Given the description of an element on the screen output the (x, y) to click on. 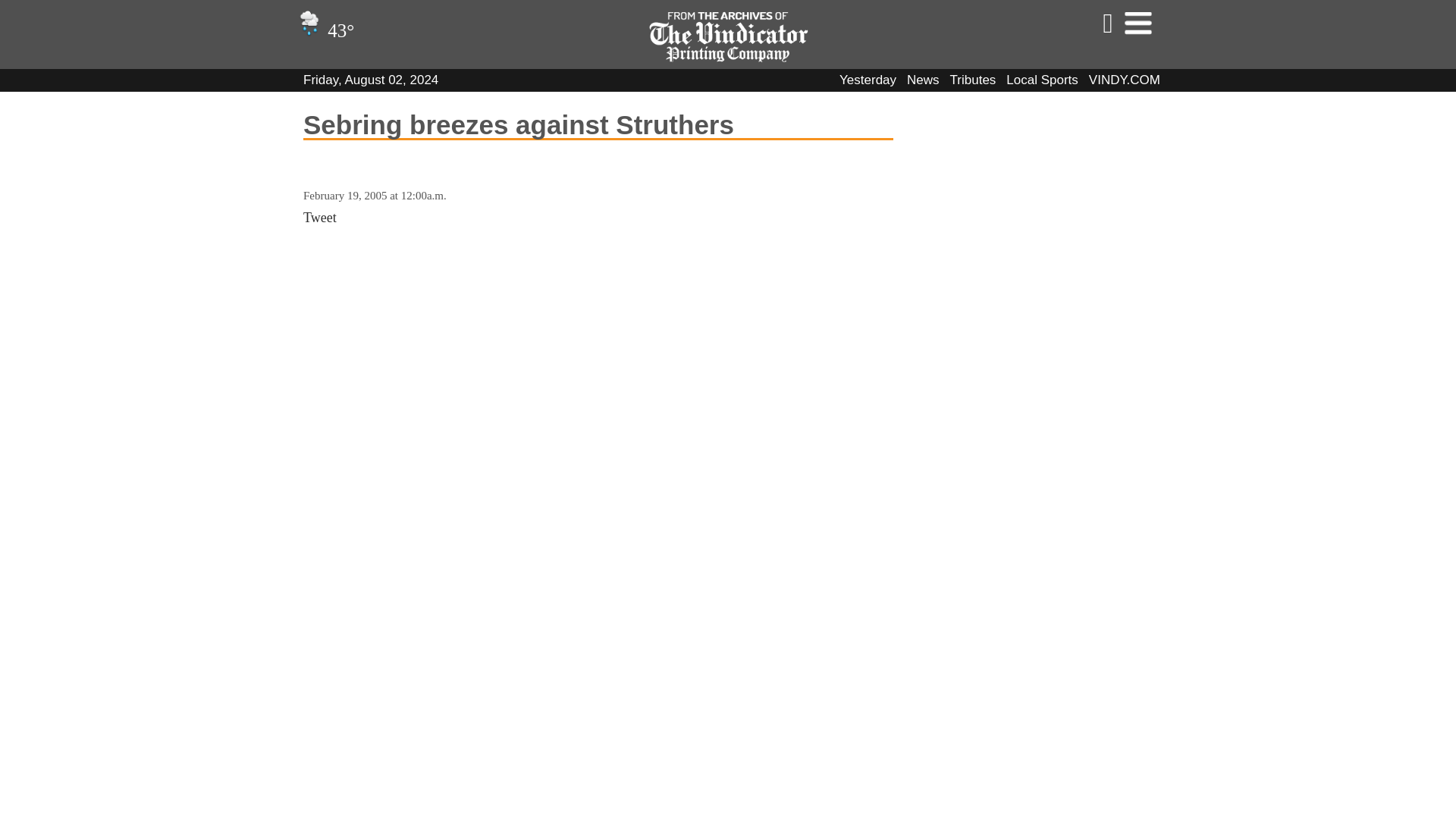
Local Sports (1042, 79)
Tweet (319, 217)
Tributes (972, 79)
VINDY.COM (1124, 79)
Friday, August 02, 2024 (370, 79)
News (923, 79)
Yesterday (868, 79)
